Given the description of an element on the screen output the (x, y) to click on. 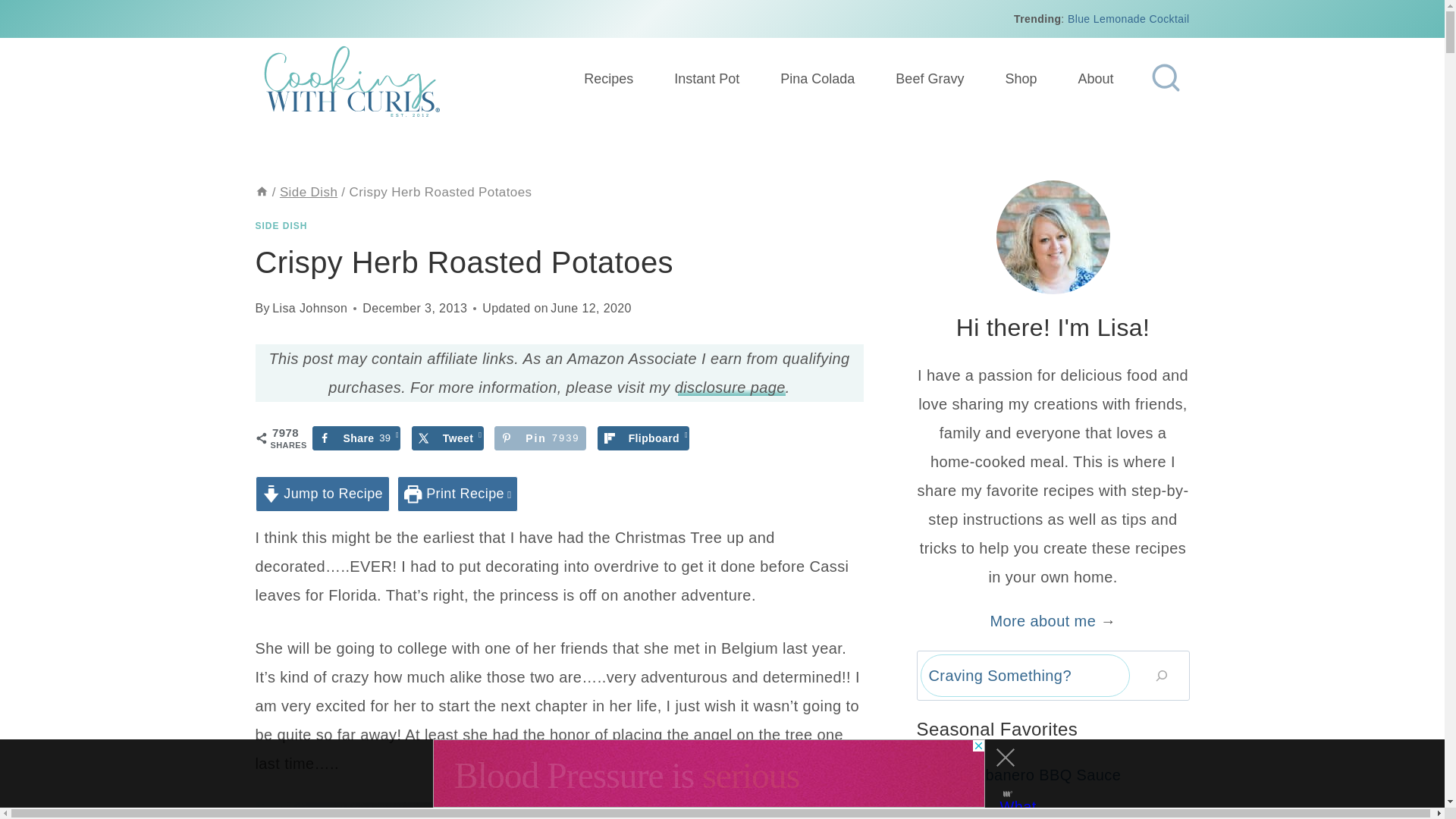
Blue Lemonade Cocktail (1128, 19)
Tweet (447, 437)
disclosure page (730, 387)
Shop (1020, 78)
Pina Colada (817, 78)
Jump to Recipe (321, 493)
3rd party ad content (708, 773)
Save to Pinterest (540, 437)
Flipboard (540, 437)
Print Recipe (643, 437)
Share on Facebook (457, 493)
Home (357, 437)
Beef Gravy (260, 192)
